Given the description of an element on the screen output the (x, y) to click on. 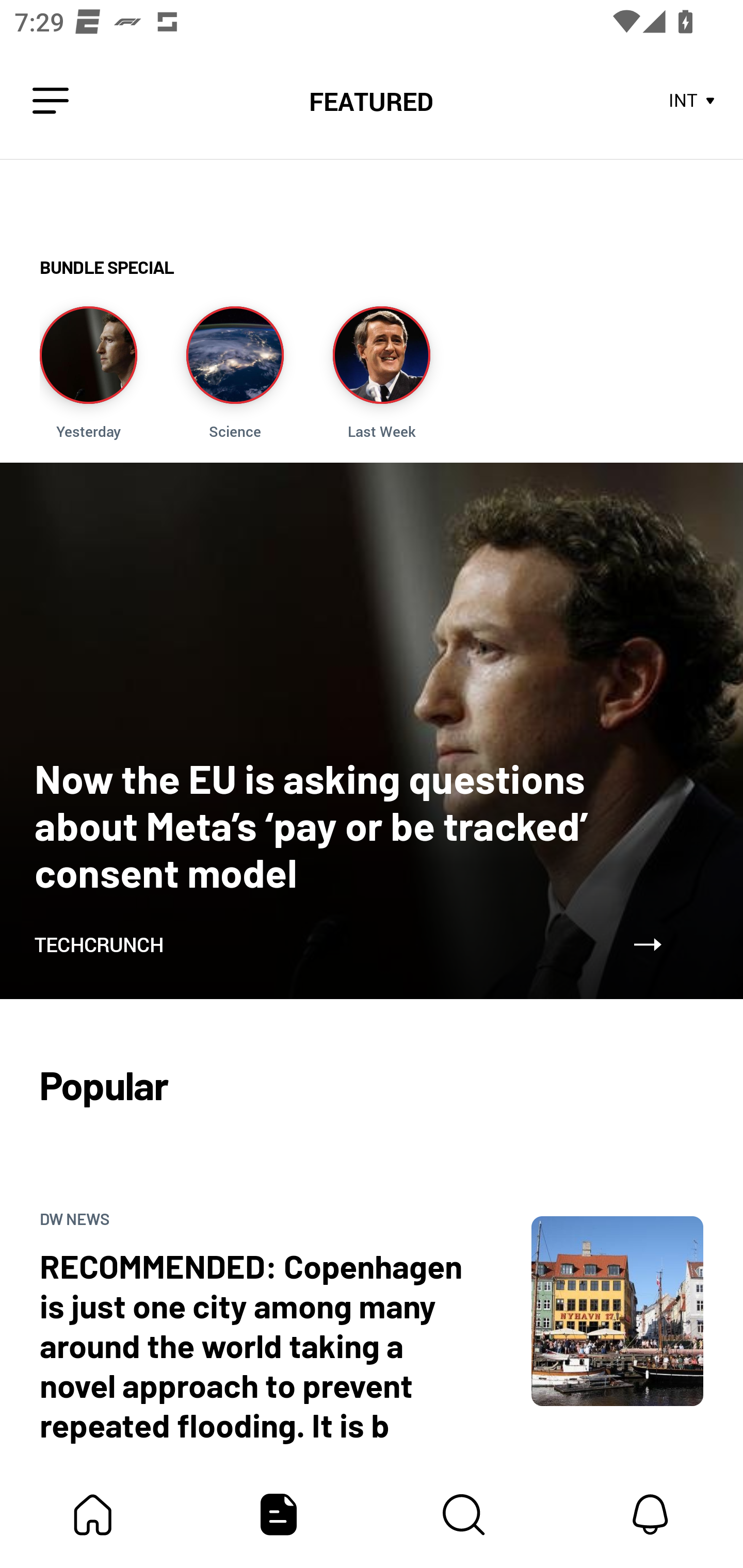
Leading Icon (50, 101)
INT Store Area (692, 101)
Story Image Yesterday (88, 372)
Story Image Science (234, 372)
Story Image Last Week (381, 372)
My Bundle (92, 1514)
Content Store (464, 1514)
Notifications (650, 1514)
